Given the description of an element on the screen output the (x, y) to click on. 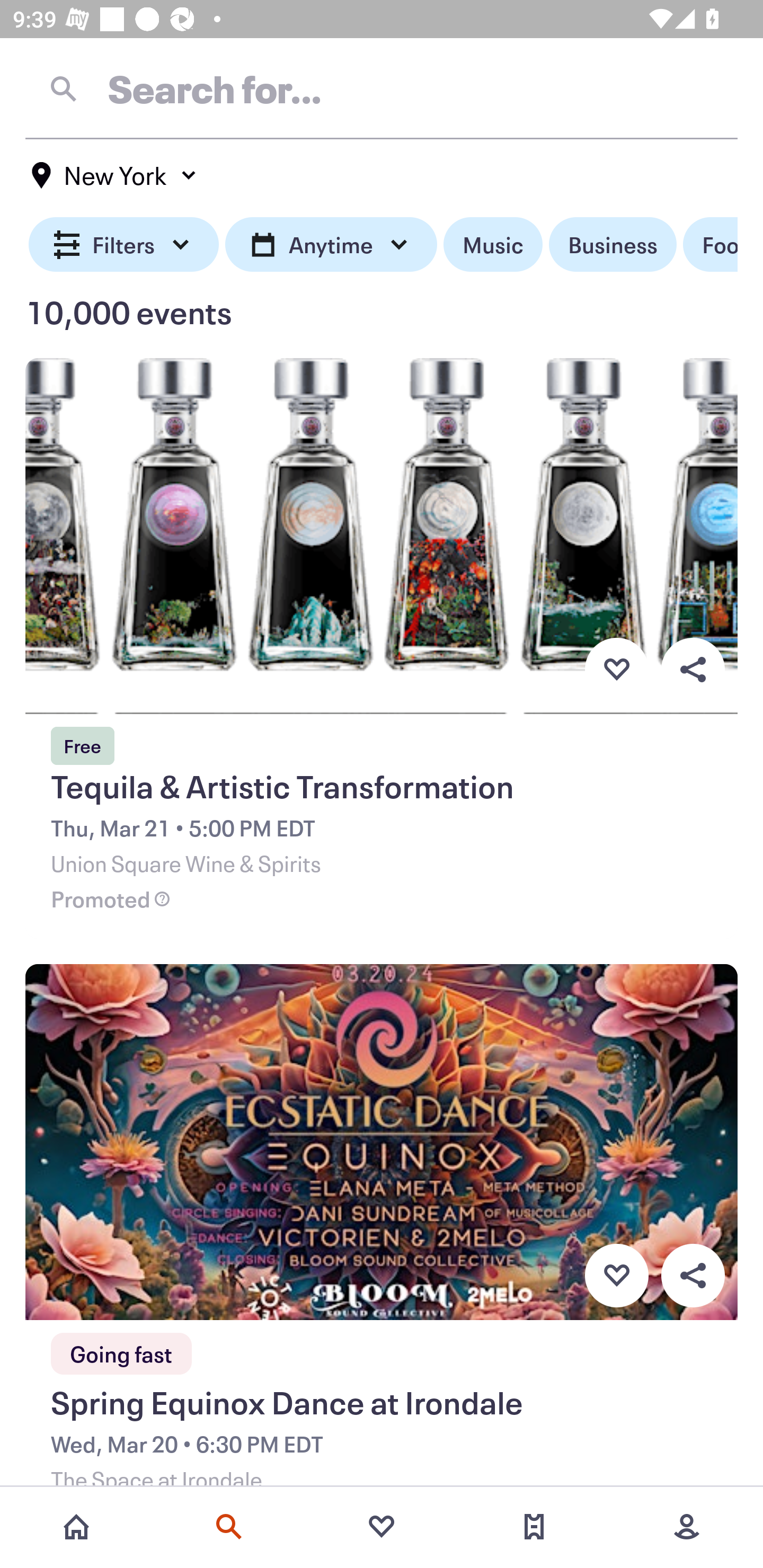
Search for… (381, 88)
New York (114, 175)
Filters (123, 244)
Anytime (331, 244)
Music (492, 244)
Business (612, 244)
Favorite button (616, 669)
Overflow menu button (692, 669)
Promoted event help (161, 898)
Favorite button (616, 1275)
Overflow menu button (692, 1275)
Home (76, 1526)
Search events (228, 1526)
Favorites (381, 1526)
Tickets (533, 1526)
More (686, 1526)
